Given the description of an element on the screen output the (x, y) to click on. 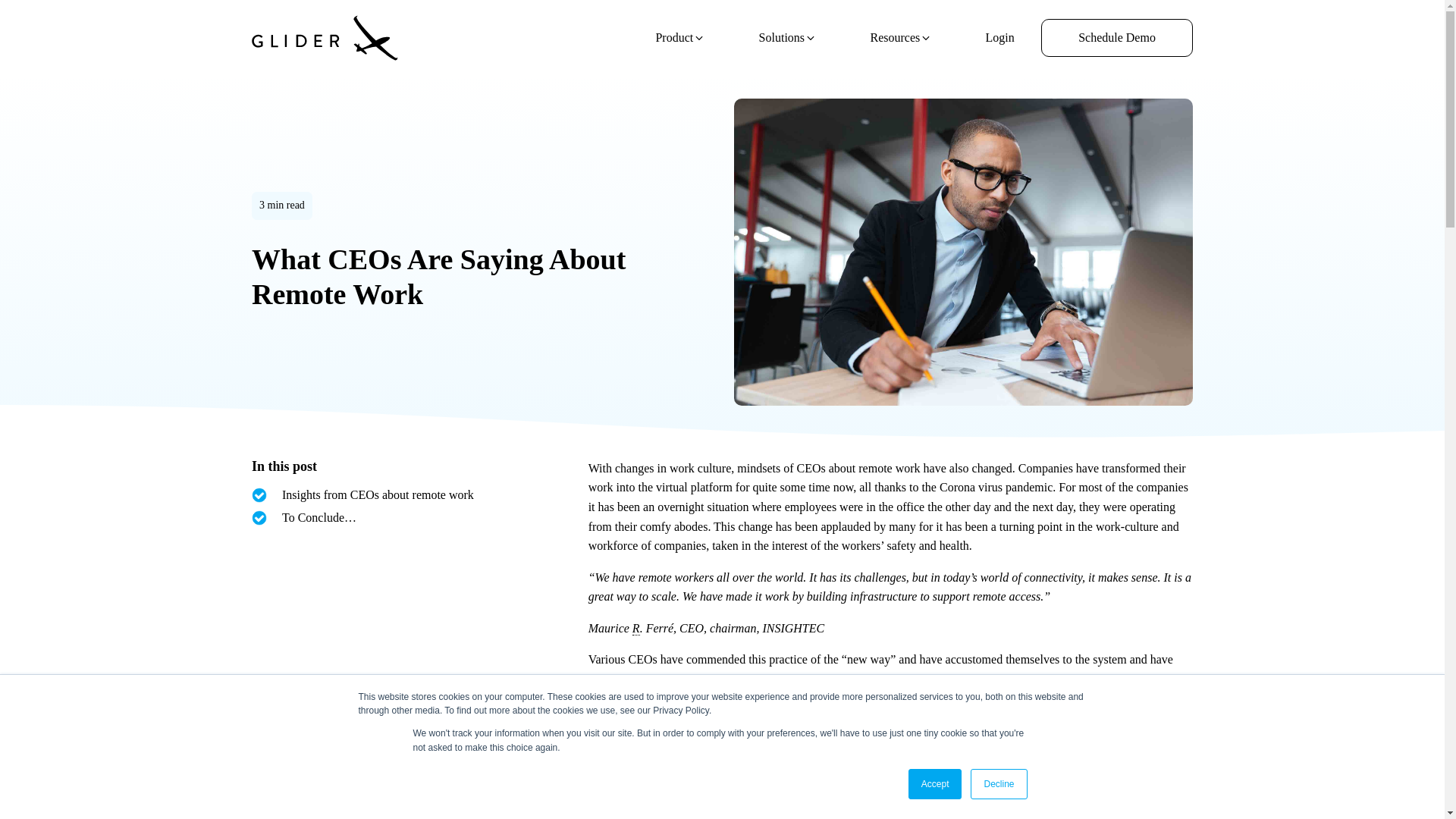
Solutions (787, 37)
Decline (998, 784)
Product (680, 37)
Resources (900, 37)
Accept (935, 784)
